Given the description of an element on the screen output the (x, y) to click on. 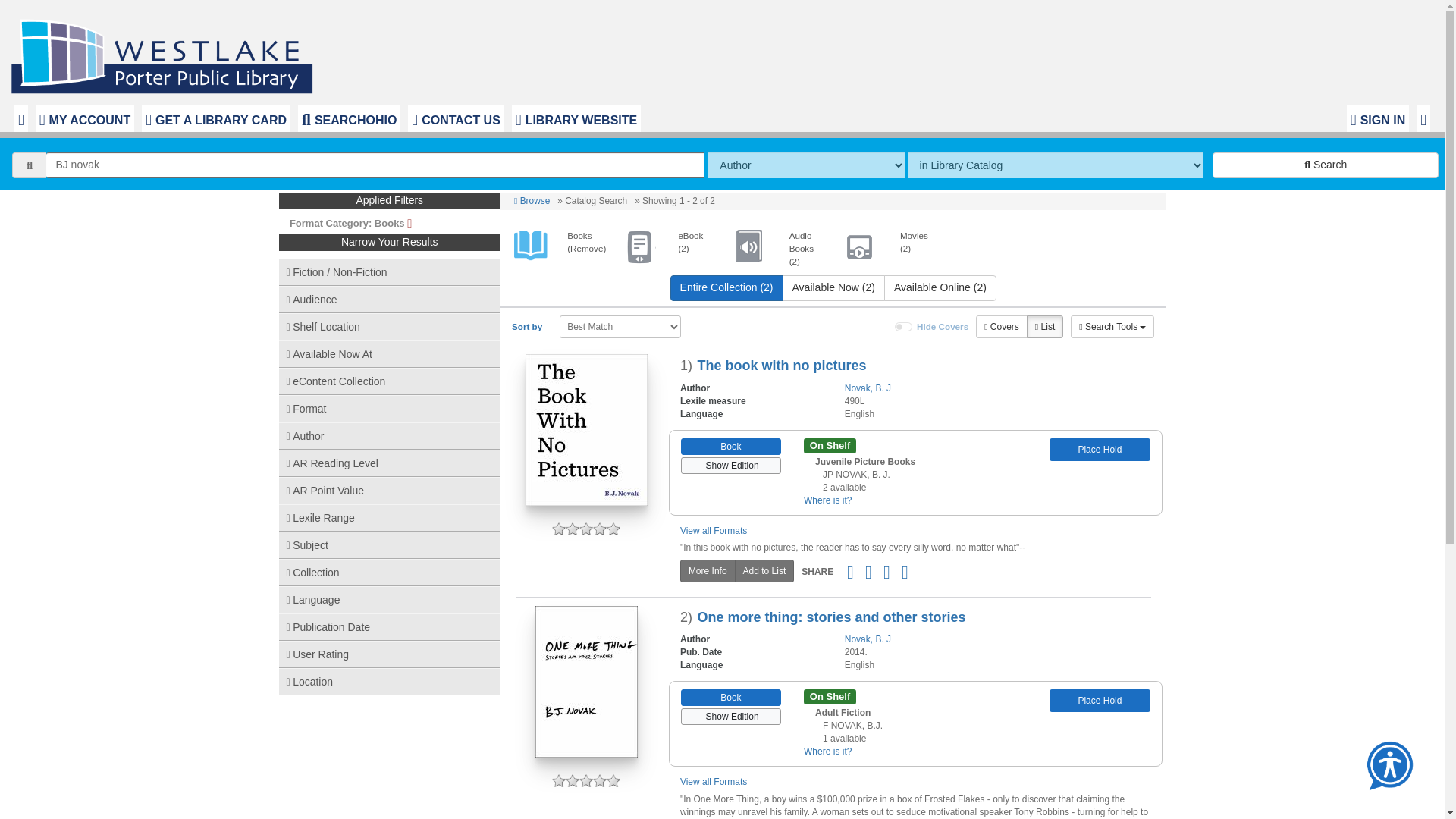
CONTACT US (455, 117)
LIBRARY WEBSITE (576, 117)
The method of searching. (805, 165)
MY ACCOUNT (83, 117)
Login (1377, 117)
Library Home Page (165, 52)
 Search (1325, 165)
SIGN IN (1377, 117)
BJ novak (375, 165)
SEARCHOHIO (349, 117)
on (903, 326)
GET A LIBRARY CARD (215, 117)
